Given the description of an element on the screen output the (x, y) to click on. 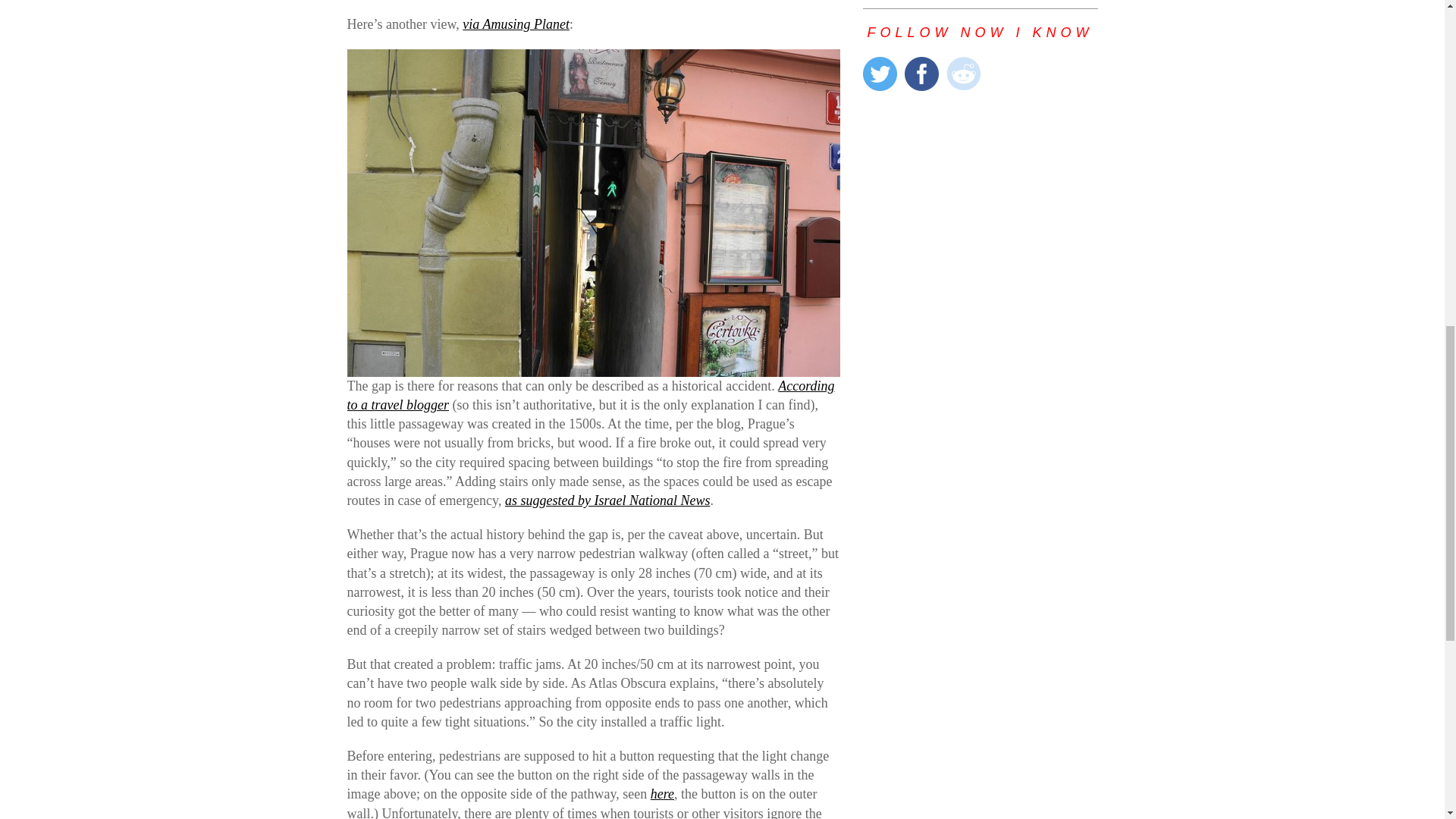
here (662, 793)
as suggested by Israel National News (607, 500)
via Amusing Planet (516, 23)
According to a travel blogger (590, 395)
